Given the description of an element on the screen output the (x, y) to click on. 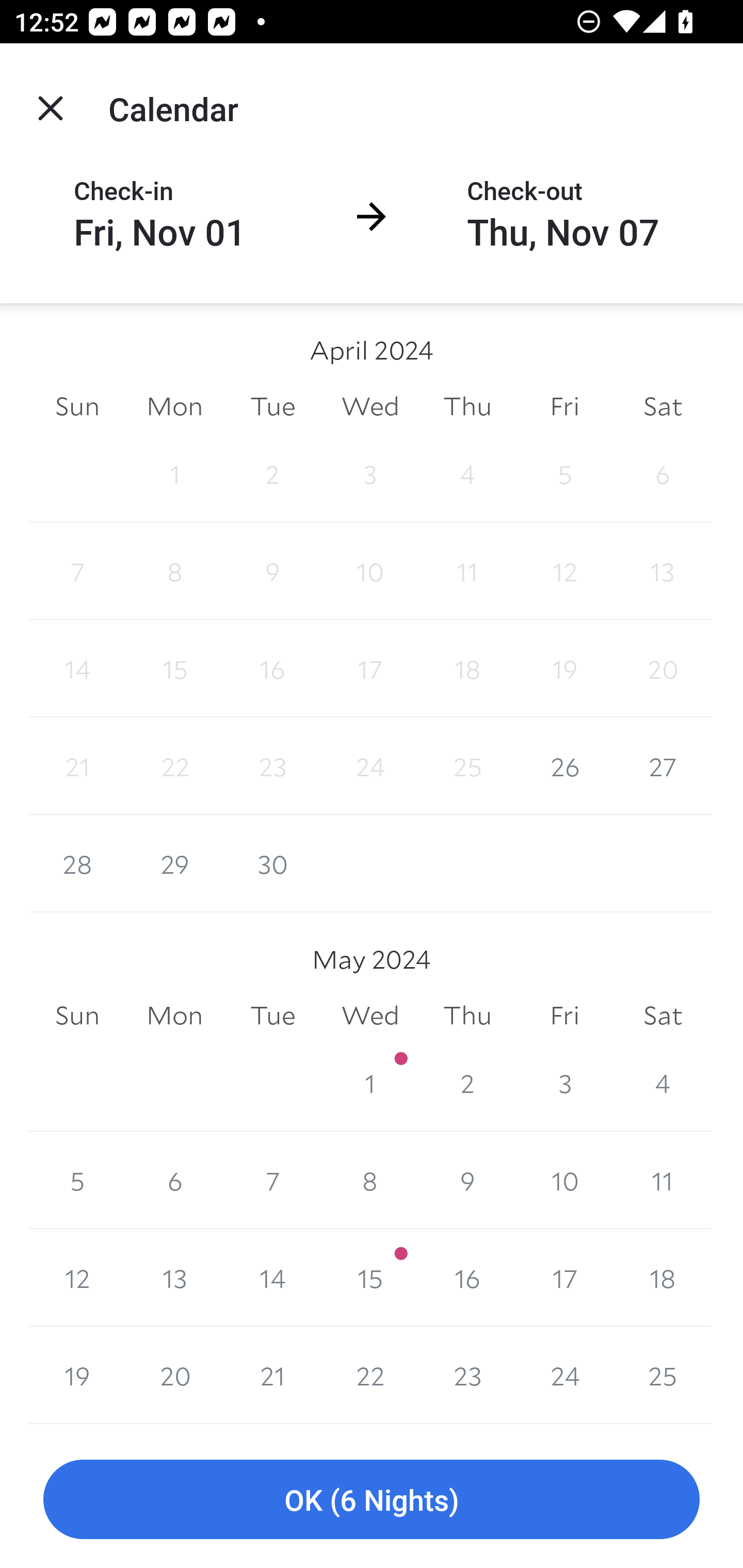
Sun (77, 405)
Mon (174, 405)
Tue (272, 405)
Wed (370, 405)
Thu (467, 405)
Fri (564, 405)
Sat (662, 405)
1 1 April 2024 (174, 473)
2 2 April 2024 (272, 473)
3 3 April 2024 (370, 473)
4 4 April 2024 (467, 473)
5 5 April 2024 (564, 473)
6 6 April 2024 (662, 473)
7 7 April 2024 (77, 570)
8 8 April 2024 (174, 570)
9 9 April 2024 (272, 570)
10 10 April 2024 (370, 570)
11 11 April 2024 (467, 570)
12 12 April 2024 (564, 570)
13 13 April 2024 (662, 570)
14 14 April 2024 (77, 668)
15 15 April 2024 (174, 668)
16 16 April 2024 (272, 668)
17 17 April 2024 (370, 668)
18 18 April 2024 (467, 668)
19 19 April 2024 (564, 668)
20 20 April 2024 (662, 668)
21 21 April 2024 (77, 766)
22 22 April 2024 (174, 766)
23 23 April 2024 (272, 766)
24 24 April 2024 (370, 766)
25 25 April 2024 (467, 766)
26 26 April 2024 (564, 766)
27 27 April 2024 (662, 766)
28 28 April 2024 (77, 863)
29 29 April 2024 (174, 863)
30 30 April 2024 (272, 863)
Sun (77, 1015)
Mon (174, 1015)
Tue (272, 1015)
Wed (370, 1015)
Thu (467, 1015)
Fri (564, 1015)
Sat (662, 1015)
1 1 May 2024 (370, 1083)
2 2 May 2024 (467, 1083)
3 3 May 2024 (564, 1083)
4 4 May 2024 (662, 1083)
5 5 May 2024 (77, 1180)
6 6 May 2024 (174, 1180)
7 7 May 2024 (272, 1180)
8 8 May 2024 (370, 1180)
9 9 May 2024 (467, 1180)
10 10 May 2024 (564, 1180)
11 11 May 2024 (662, 1180)
12 12 May 2024 (77, 1277)
13 13 May 2024 (174, 1277)
14 14 May 2024 (272, 1277)
15 15 May 2024 (370, 1277)
16 16 May 2024 (467, 1277)
17 17 May 2024 (564, 1277)
18 18 May 2024 (662, 1277)
19 19 May 2024 (77, 1374)
20 20 May 2024 (174, 1374)
21 21 May 2024 (272, 1374)
22 22 May 2024 (370, 1374)
23 23 May 2024 (467, 1374)
24 24 May 2024 (564, 1374)
25 25 May 2024 (662, 1374)
OK (6 Nights) (371, 1499)
